Given the description of an element on the screen output the (x, y) to click on. 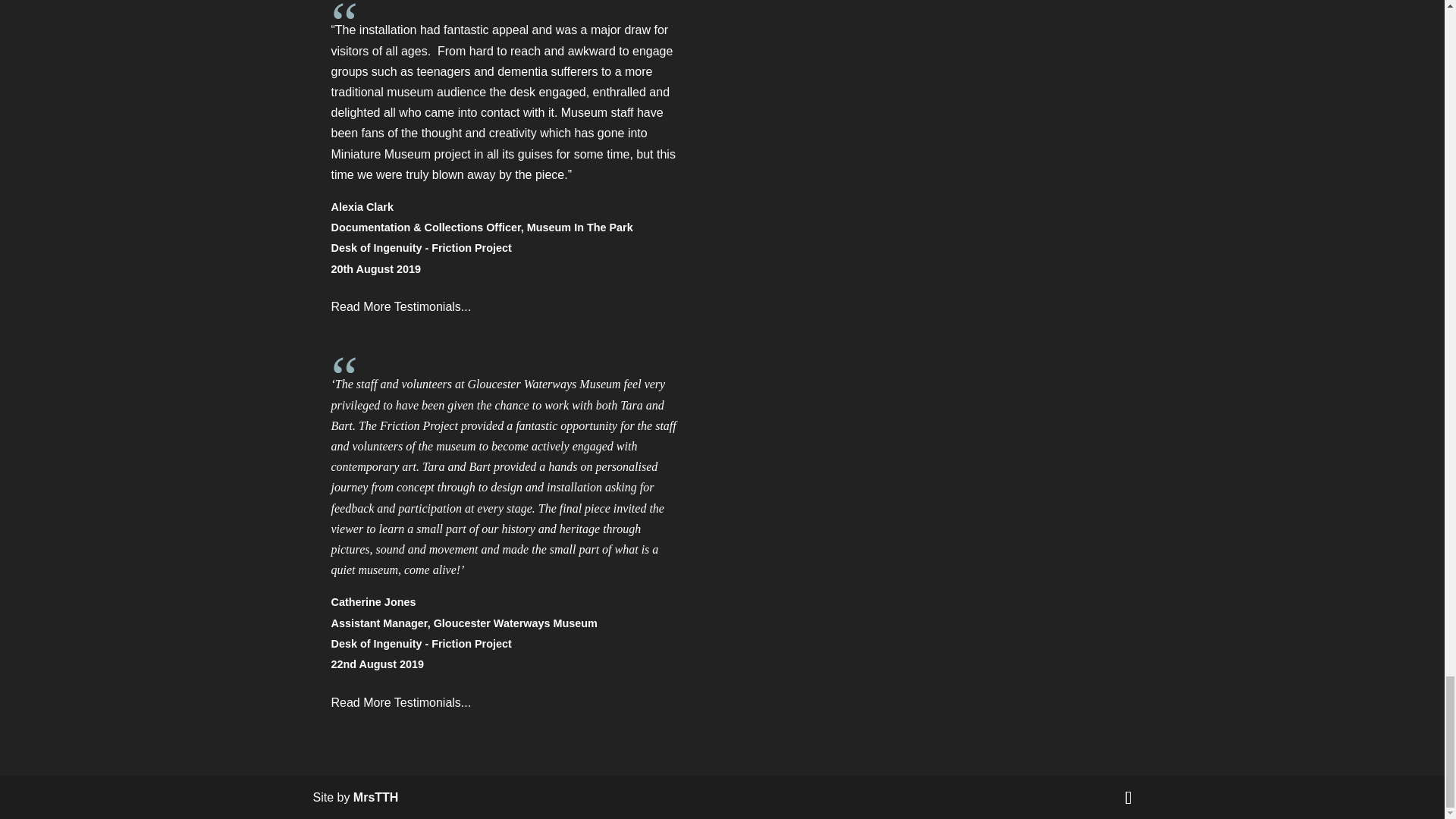
Read More Testimonials... (400, 701)
Read More Testimonials... (400, 306)
